Given the description of an element on the screen output the (x, y) to click on. 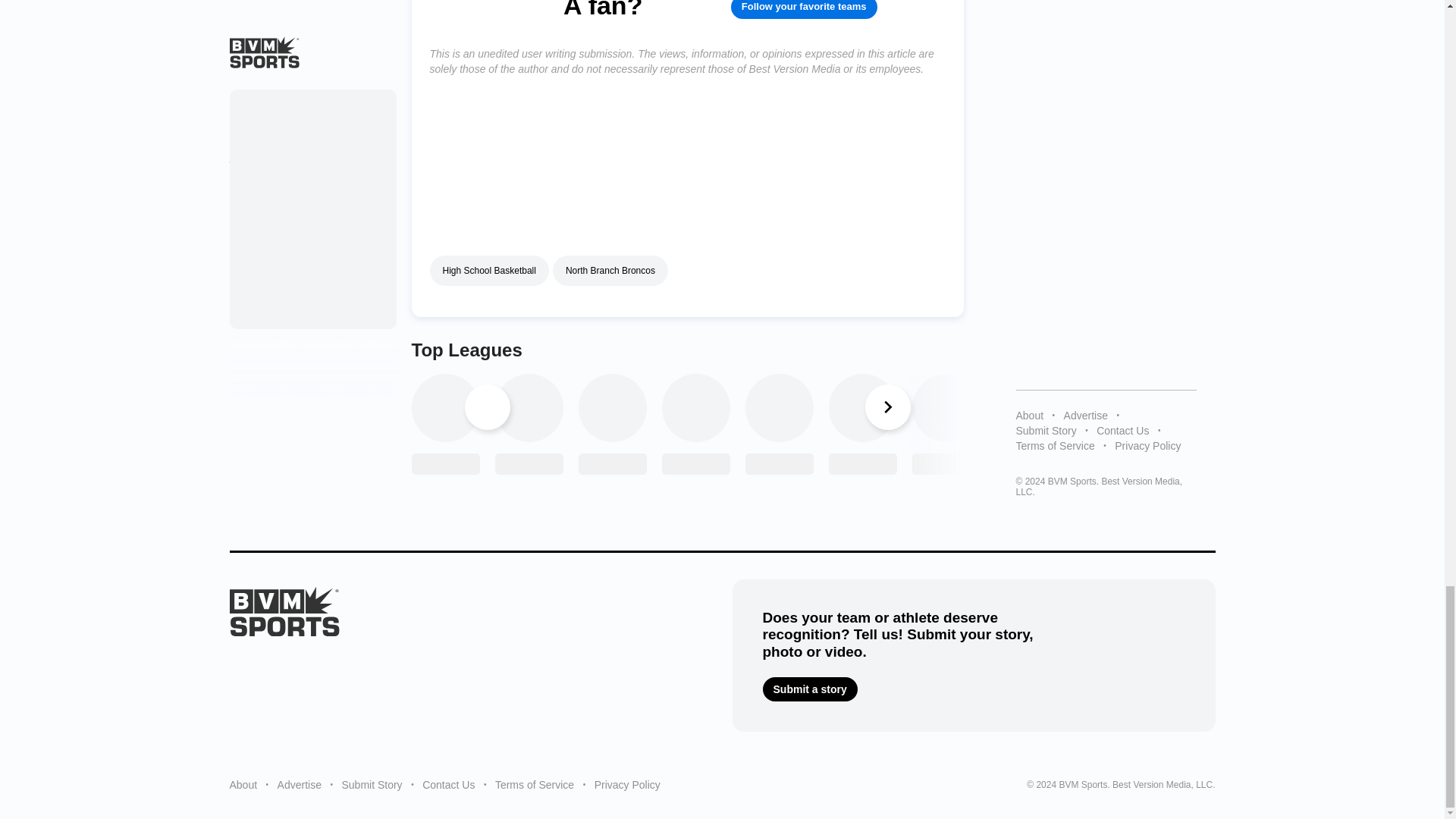
High School Basketball (488, 270)
North Branch Broncos (610, 270)
Follow your favorite teams (803, 9)
